Given the description of an element on the screen output the (x, y) to click on. 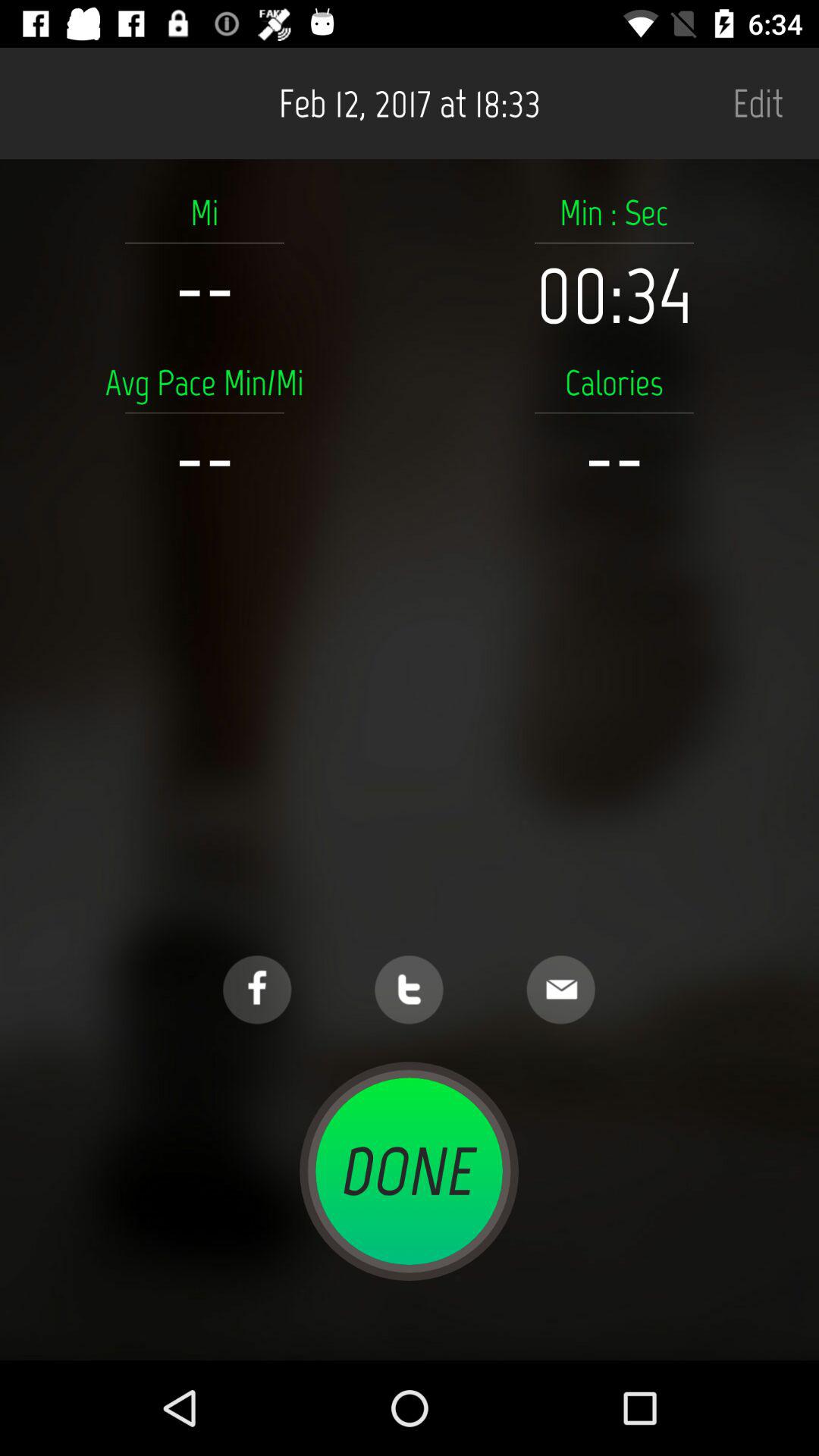
share too facebook (257, 989)
